Given the description of an element on the screen output the (x, y) to click on. 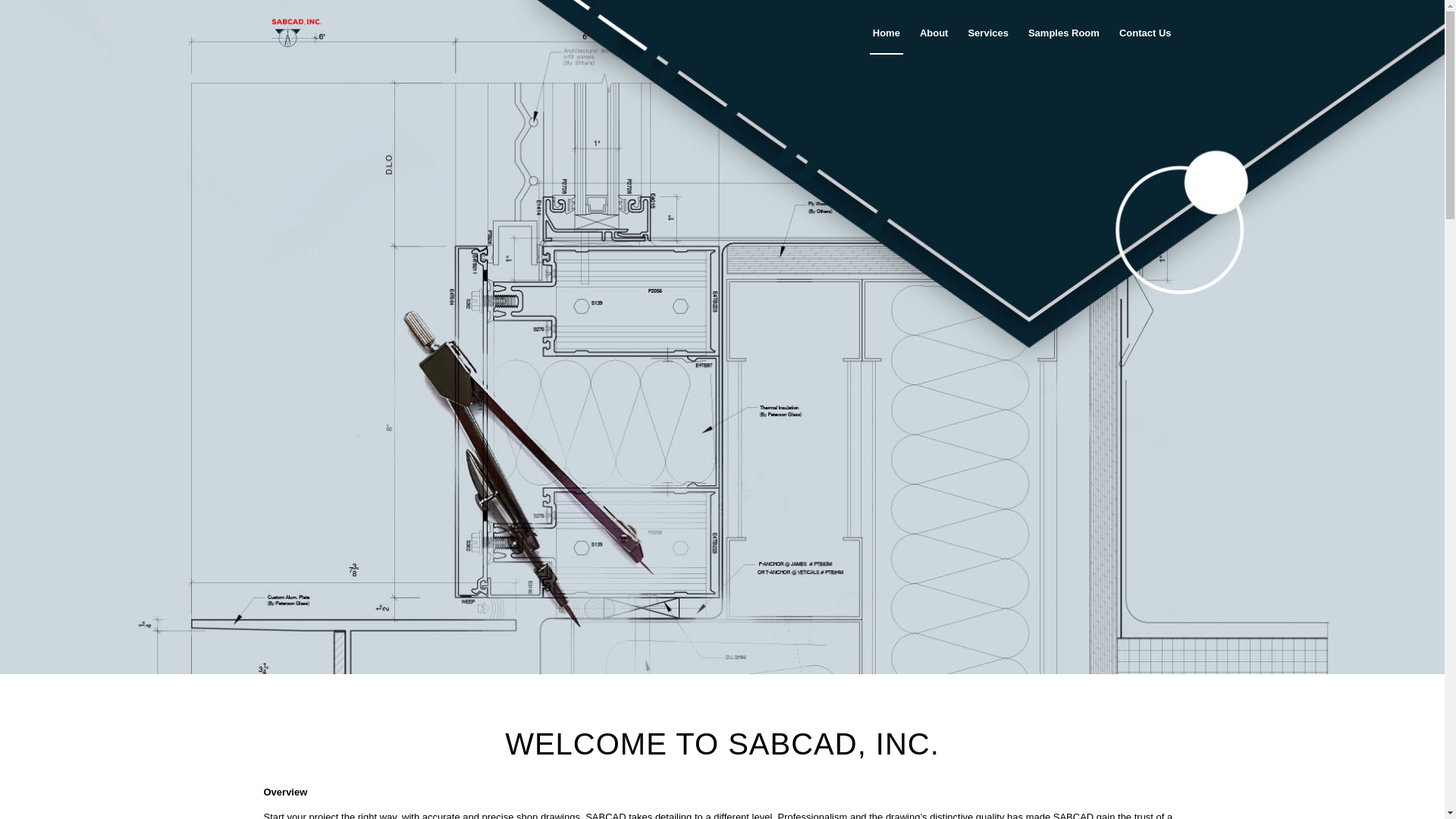
Home (886, 33)
Comp 3-min (296, 33)
Services (987, 33)
About (934, 33)
Samples Room (1063, 33)
Contact Us (1144, 33)
